Given the description of an element on the screen output the (x, y) to click on. 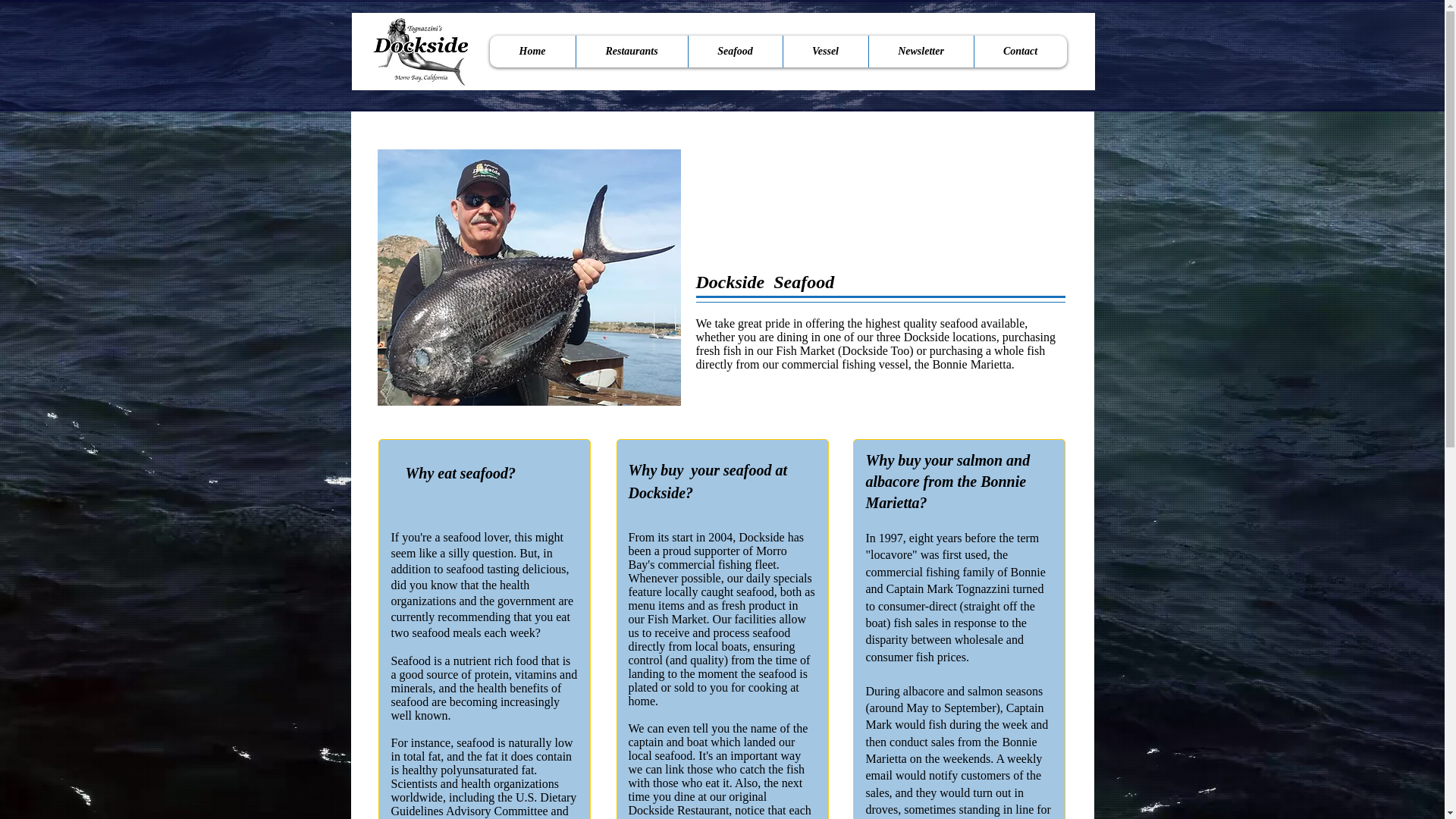
Home (532, 51)
Contact (1020, 51)
Dockide logo (419, 51)
Capt. Mark with pomfret (529, 277)
